Given the description of an element on the screen output the (x, y) to click on. 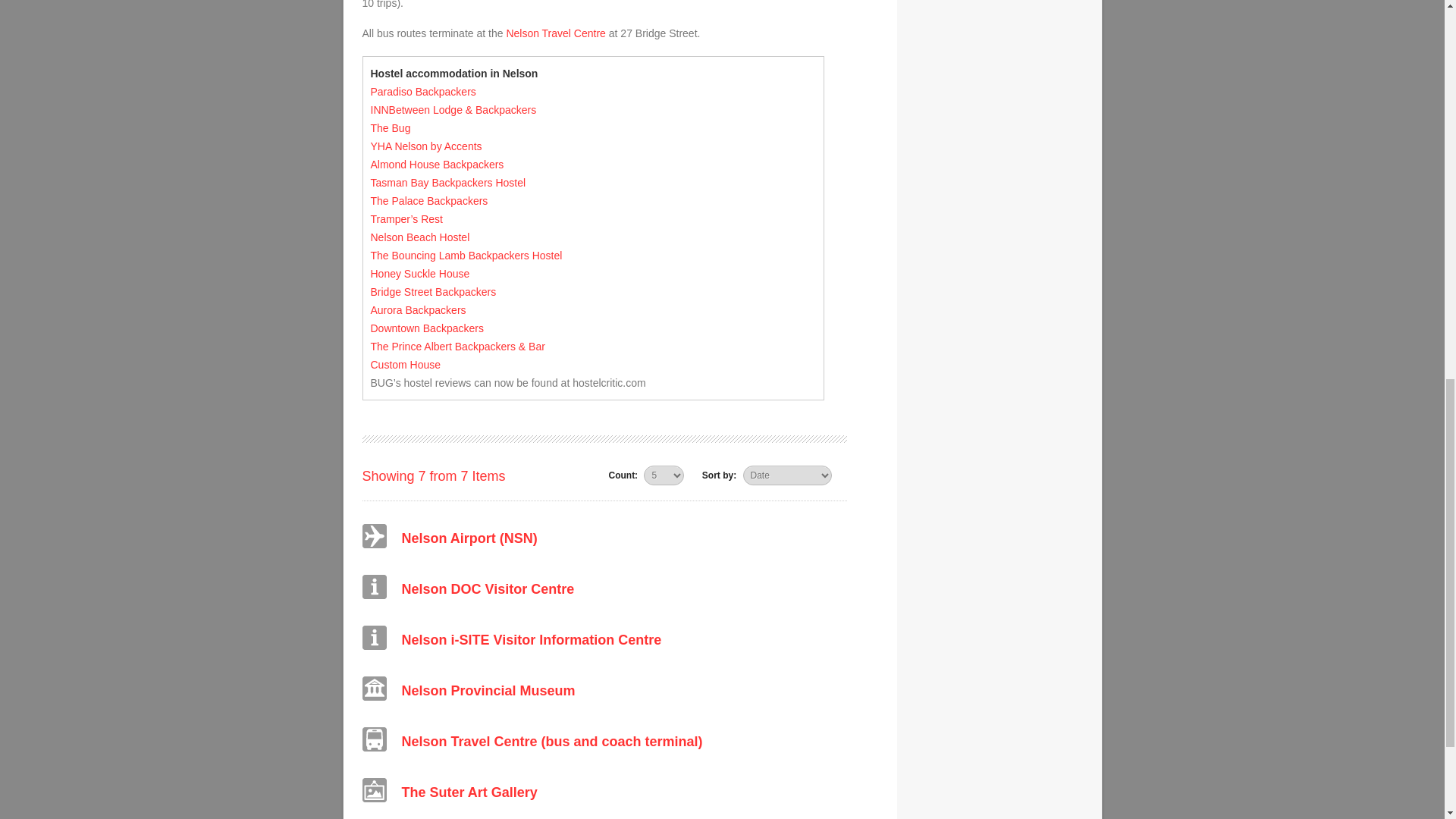
The Suter Art Gallery (469, 791)
Custom House (405, 364)
The Bug (389, 128)
Aurora Backpackers (417, 309)
The Bouncing Lamb Backpackers Hostel (465, 255)
Bridge Street Backpackers (432, 291)
Downtown Backpackers (426, 328)
Almond House Backpackers (436, 164)
Nelson i-SITE Visitor Information Centre (531, 639)
Nelson DOC Visitor Centre (488, 588)
Nelson Travel Centre (555, 33)
Nelson Beach Hostel (418, 236)
Paradiso Backpackers (422, 91)
The Palace Backpackers (428, 200)
Honey Suckle House (418, 273)
